Given the description of an element on the screen output the (x, y) to click on. 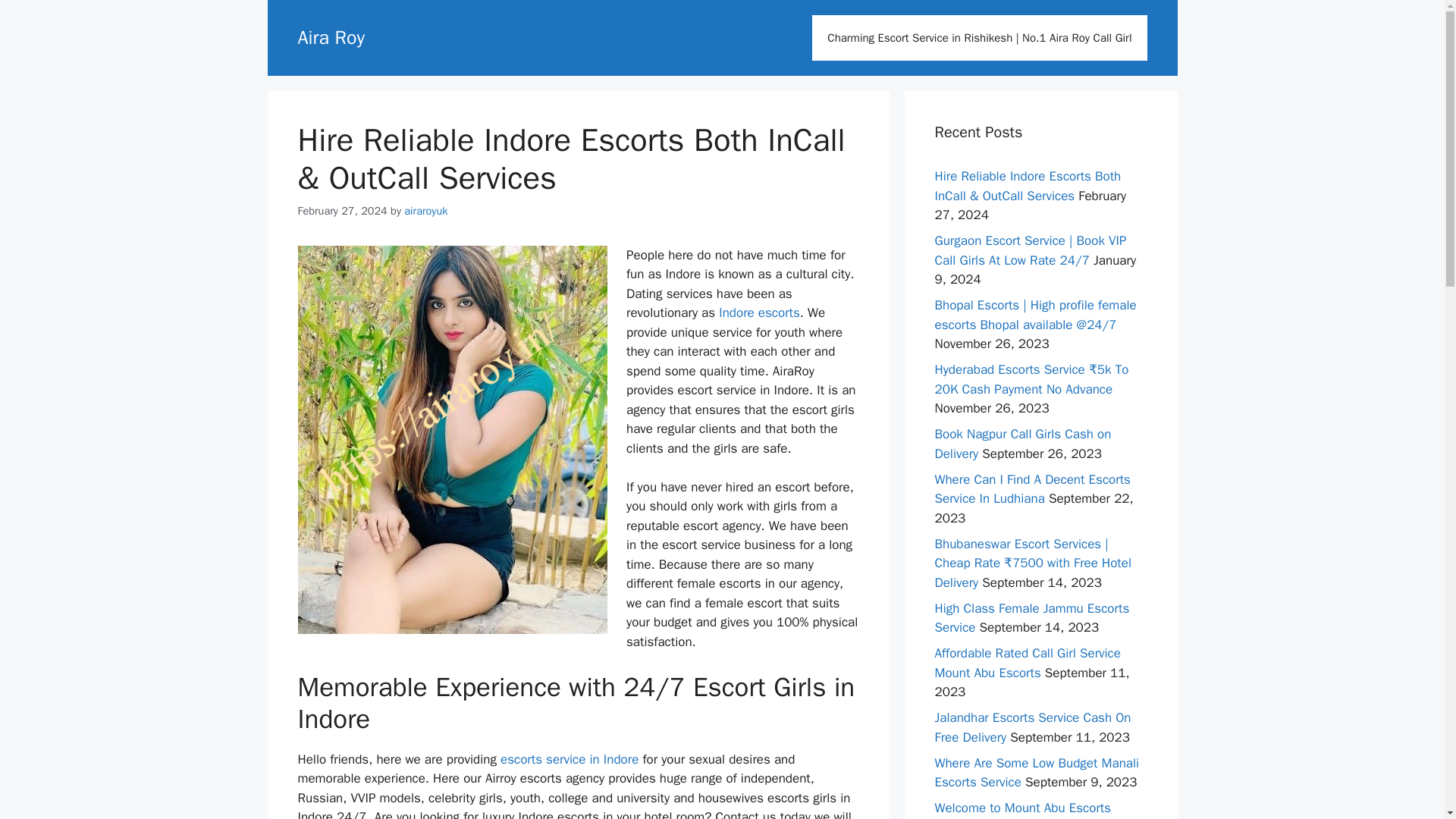
airaroyuk (425, 210)
Where Can I Find A Decent Escorts Service In Ludhiana (1031, 488)
Aira Roy (330, 37)
Book Nagpur Call Girls Cash on Delivery (1022, 443)
Jalandhar Escorts Service Cash On Free Delivery (1032, 727)
escorts service in Indore (569, 759)
Indore escorts (759, 312)
Where Are Some Low Budget Manali Escorts Service (1036, 773)
Welcome to Mount Abu Escorts Service By Aira Roy (1022, 809)
Affordable Rated Call Girl Service Mount Abu Escorts (1026, 662)
High Class Female Jammu Escorts Service (1031, 618)
View all posts by airaroyuk (425, 210)
